Given the description of an element on the screen output the (x, y) to click on. 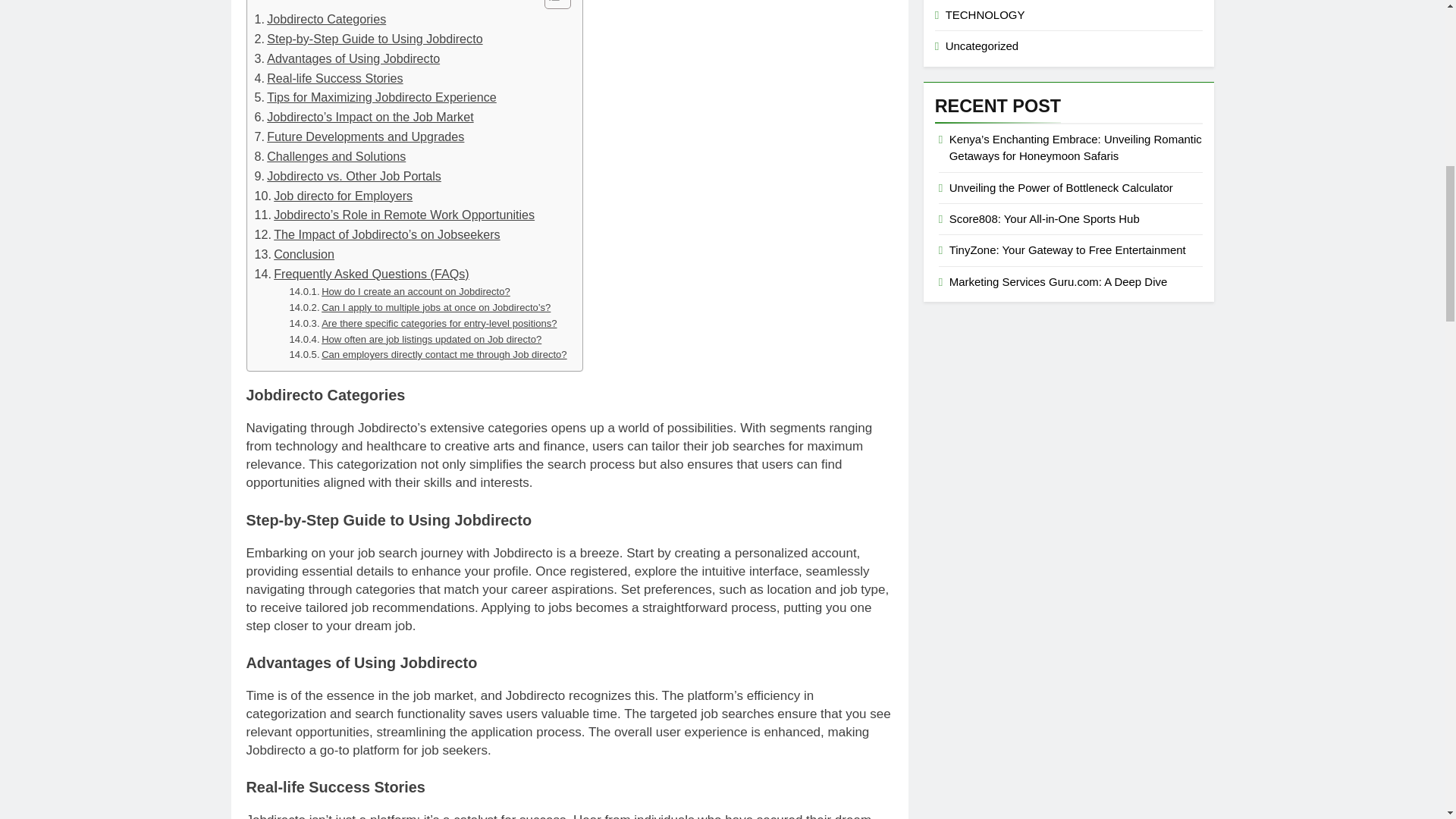
Challenges and Solutions (330, 157)
Jobdirecto Categories (320, 19)
Tips for Maximizing Jobdirecto Experience (375, 97)
Advantages of Using Jobdirecto (347, 58)
Advantages of Using Jobdirecto (347, 58)
Challenges and Solutions (330, 157)
Future Developments and Upgrades (359, 137)
Jobdirecto Categories (320, 19)
Real-life Success Stories (328, 78)
Tips for Maximizing Jobdirecto Experience (375, 97)
Jobdirecto vs. Other Job Portals (347, 176)
Conclusion (294, 254)
Step-by-Step Guide to Using Jobdirecto (368, 39)
Jobdirecto vs. Other Job Portals (347, 176)
Job directo for Employers (333, 196)
